Given the description of an element on the screen output the (x, y) to click on. 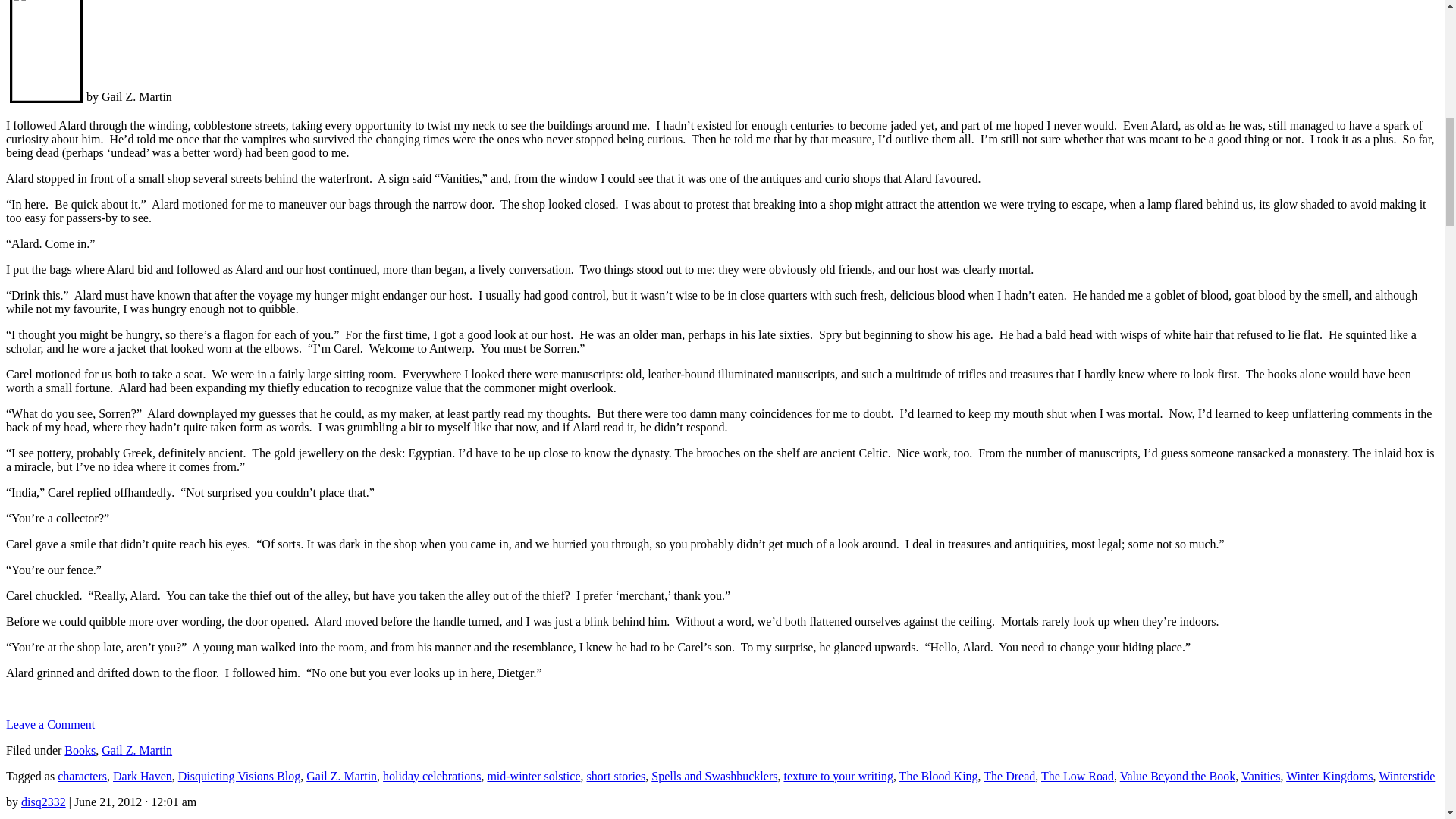
Leave a Comment (49, 723)
characters (82, 775)
Books (80, 748)
View all posts by disq2332 (43, 800)
texture to your writing (837, 775)
Gail Z. Martin (136, 748)
mid-winter solstice (532, 775)
Dark Haven (142, 775)
holiday celebrations (431, 775)
Gail Z. Martin (341, 775)
short stories (615, 775)
Spells and Swashbucklers (713, 775)
Disquieting Visions Blog (238, 775)
